Given the description of an element on the screen output the (x, y) to click on. 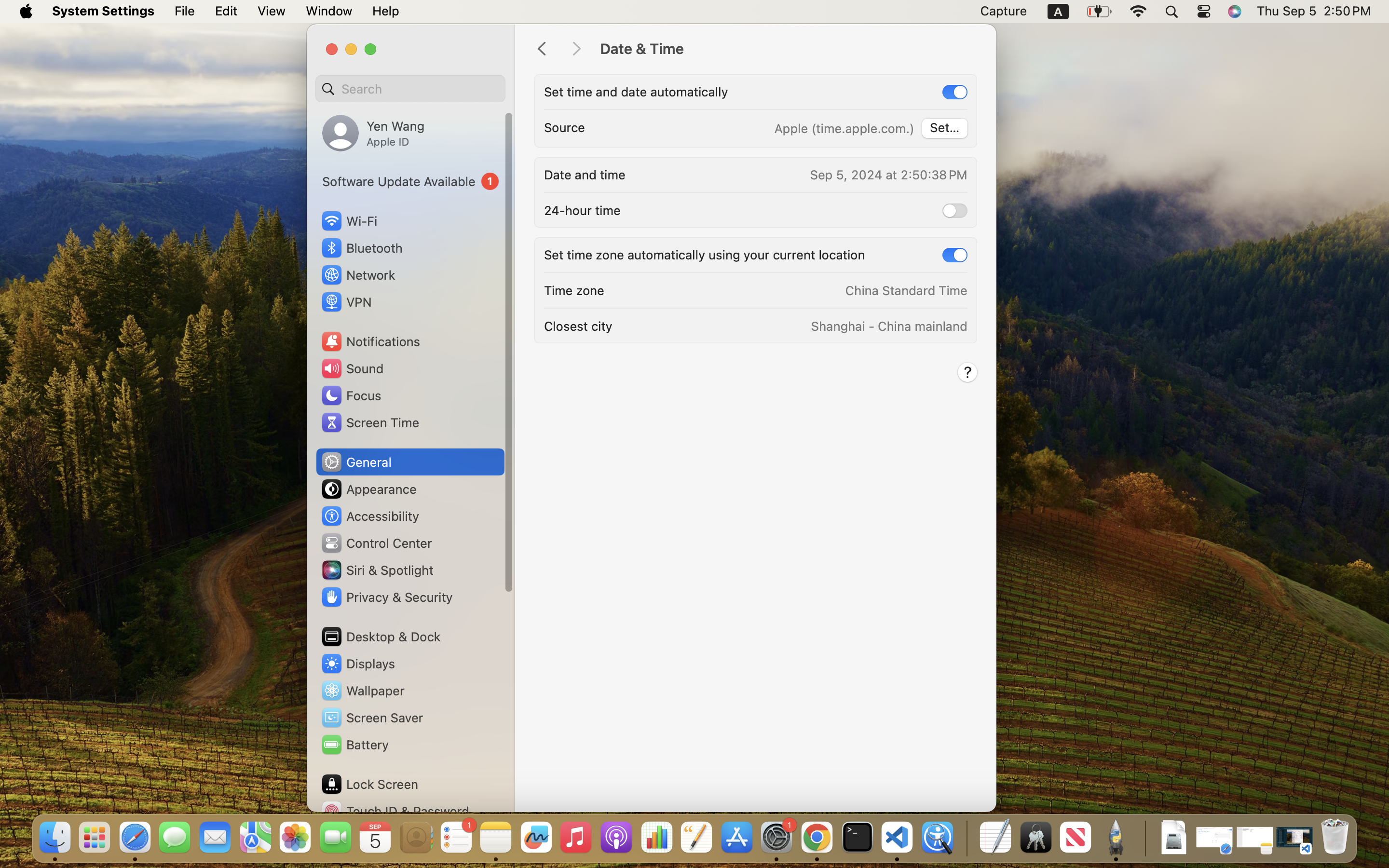
VPN Element type: AXStaticText (345, 301)
Appearance Element type: AXStaticText (368, 488)
Lock Screen Element type: AXStaticText (369, 783)
Date and time Element type: AXStaticText (584, 174)
1 Element type: AXStaticText (410, 180)
